Given the description of an element on the screen output the (x, y) to click on. 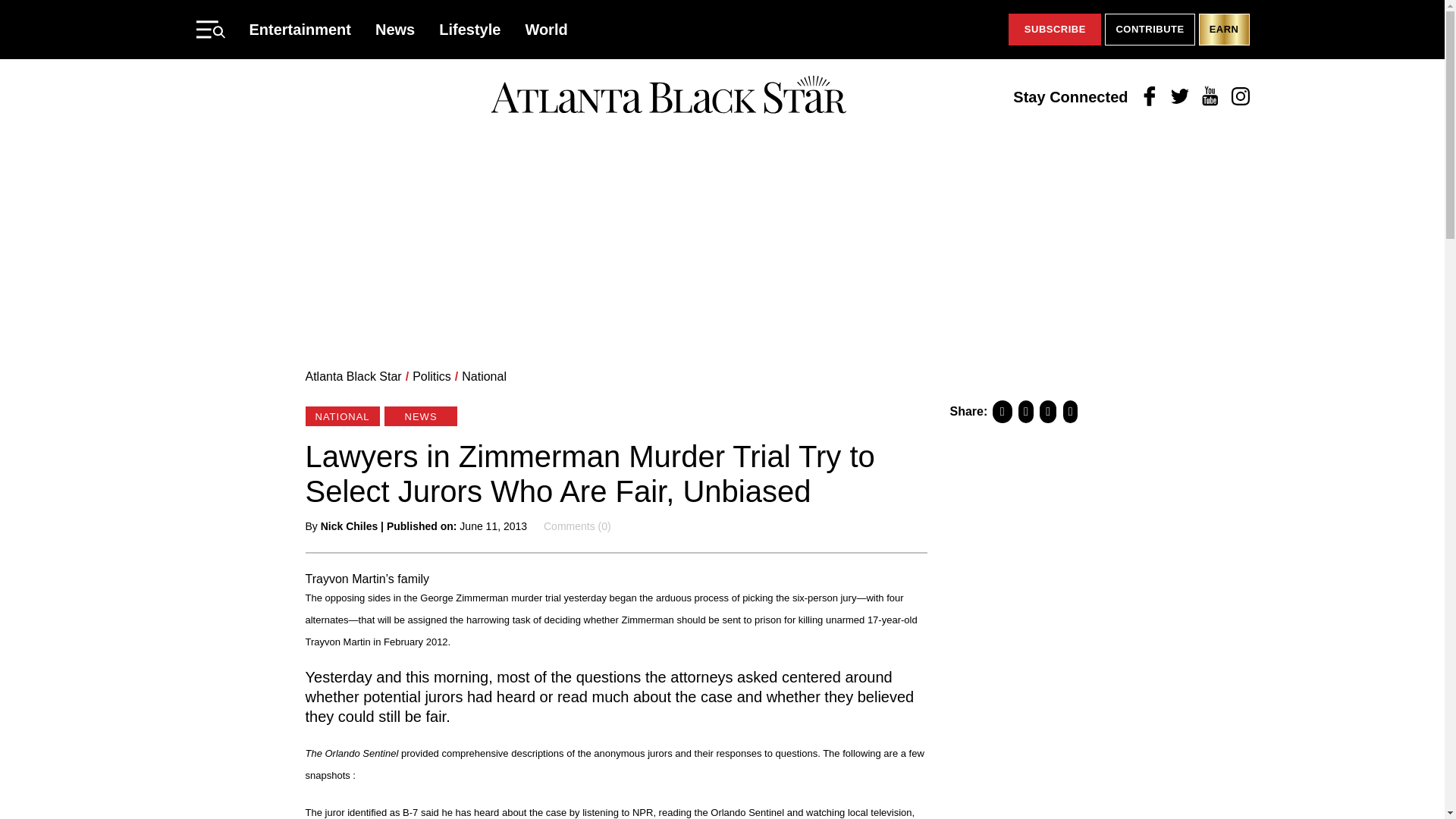
EARN (1223, 29)
Twitter (1179, 96)
Youtube (1210, 96)
Primary Menu (209, 29)
Go to the Politics Category archives. (431, 376)
Politics (431, 376)
Go to the National Category archives. (483, 376)
CONTRIBUTE (1149, 29)
World (545, 29)
SUBSCRIBE (1054, 29)
Facebook (1149, 96)
Atlanta Black Star (352, 376)
News (394, 29)
Lifestyle (469, 29)
Entertainment (299, 29)
